Given the description of an element on the screen output the (x, y) to click on. 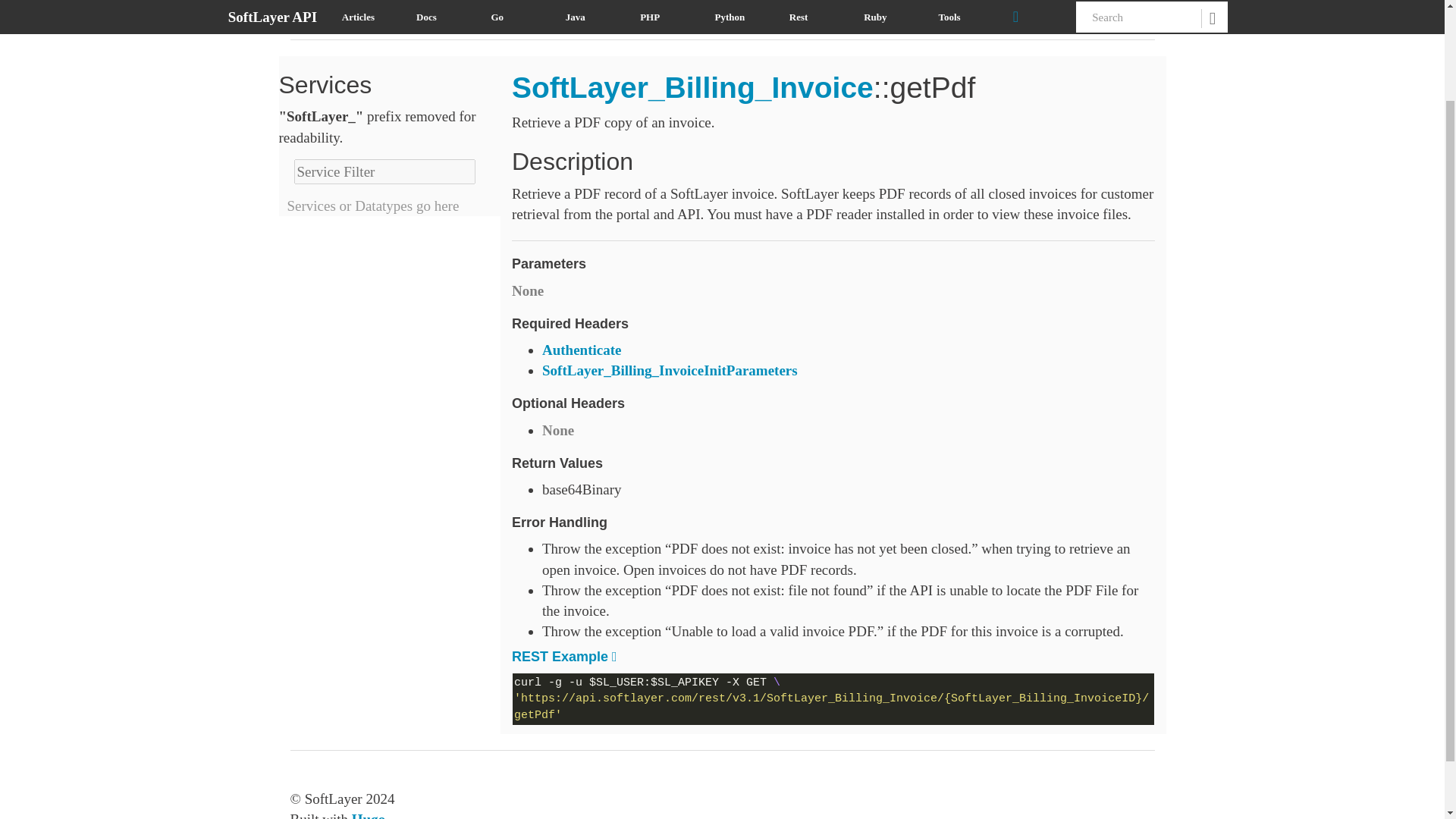
method (357, 14)
REST Example (560, 656)
Authenticate (581, 349)
sldn (408, 14)
billing (455, 14)
